Given the description of an element on the screen output the (x, y) to click on. 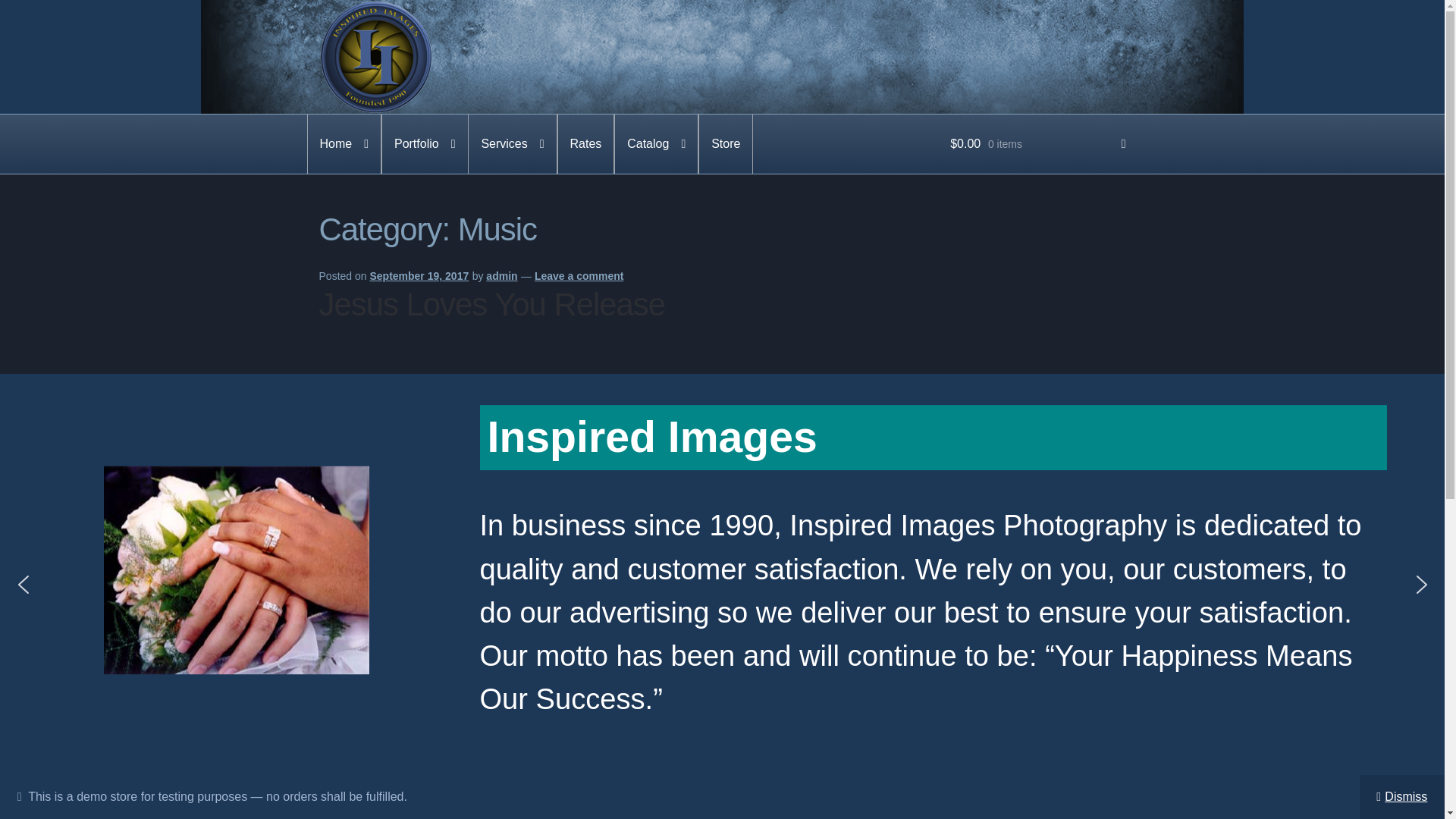
Home (344, 143)
View your shopping cart (1037, 143)
admin (501, 275)
Portfolio (424, 143)
Rates (585, 143)
Jesus Loves You Release (491, 304)
September 19, 2017 (418, 275)
Catalog (655, 143)
Leave a comment (579, 275)
Services (512, 143)
Store (725, 143)
